Given the description of an element on the screen output the (x, y) to click on. 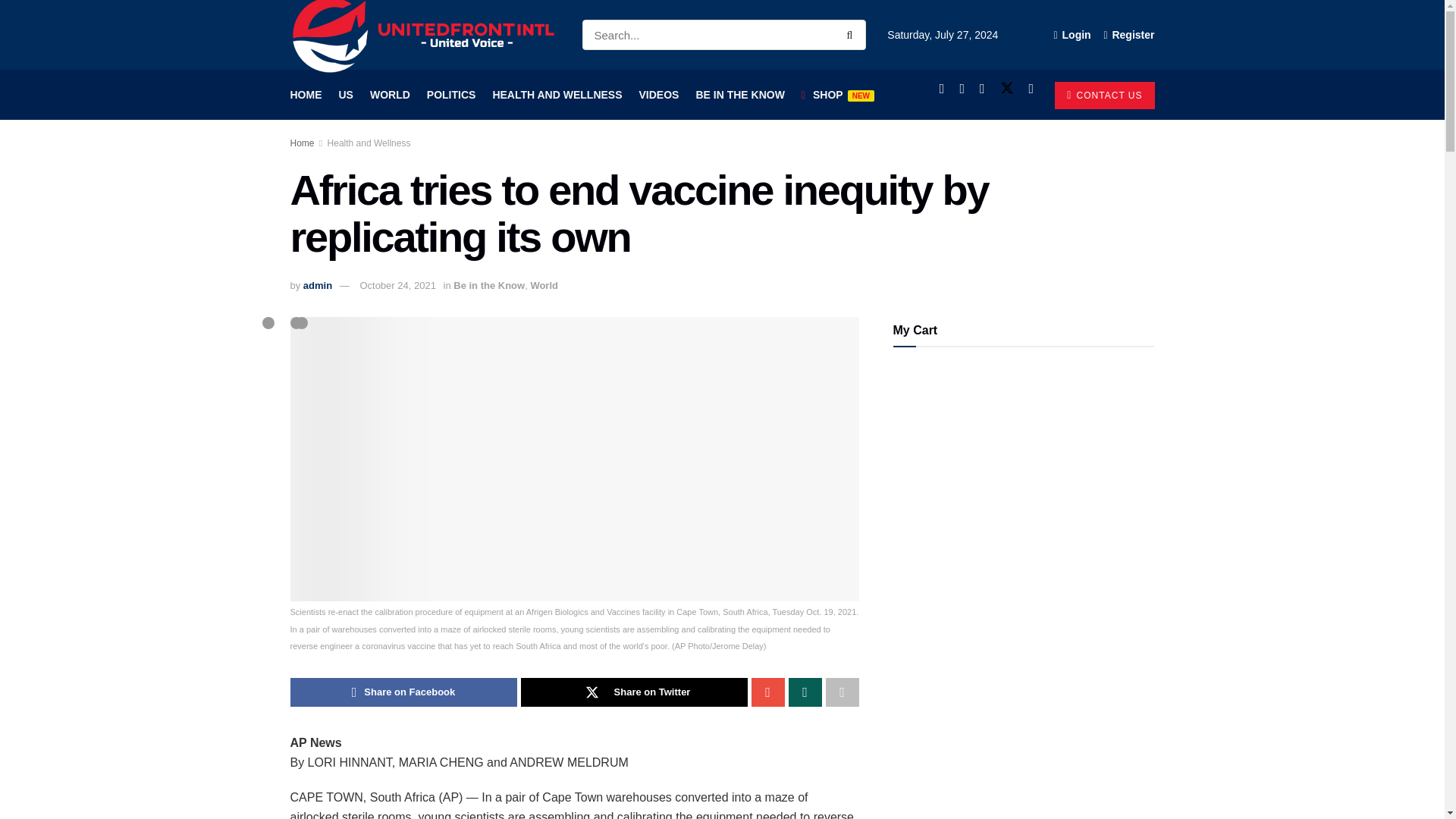
WORLD (389, 94)
Register (1128, 34)
Login (1072, 34)
Home (301, 143)
VIDEOS (659, 94)
World (543, 285)
HOME (305, 94)
SHOPNEW (838, 94)
HEALTH AND WELLNESS (556, 94)
POLITICS (451, 94)
BE IN THE KNOW (739, 94)
CONTACT US (1104, 94)
admin (316, 285)
US (344, 94)
Health and Wellness (368, 143)
